Given the description of an element on the screen output the (x, y) to click on. 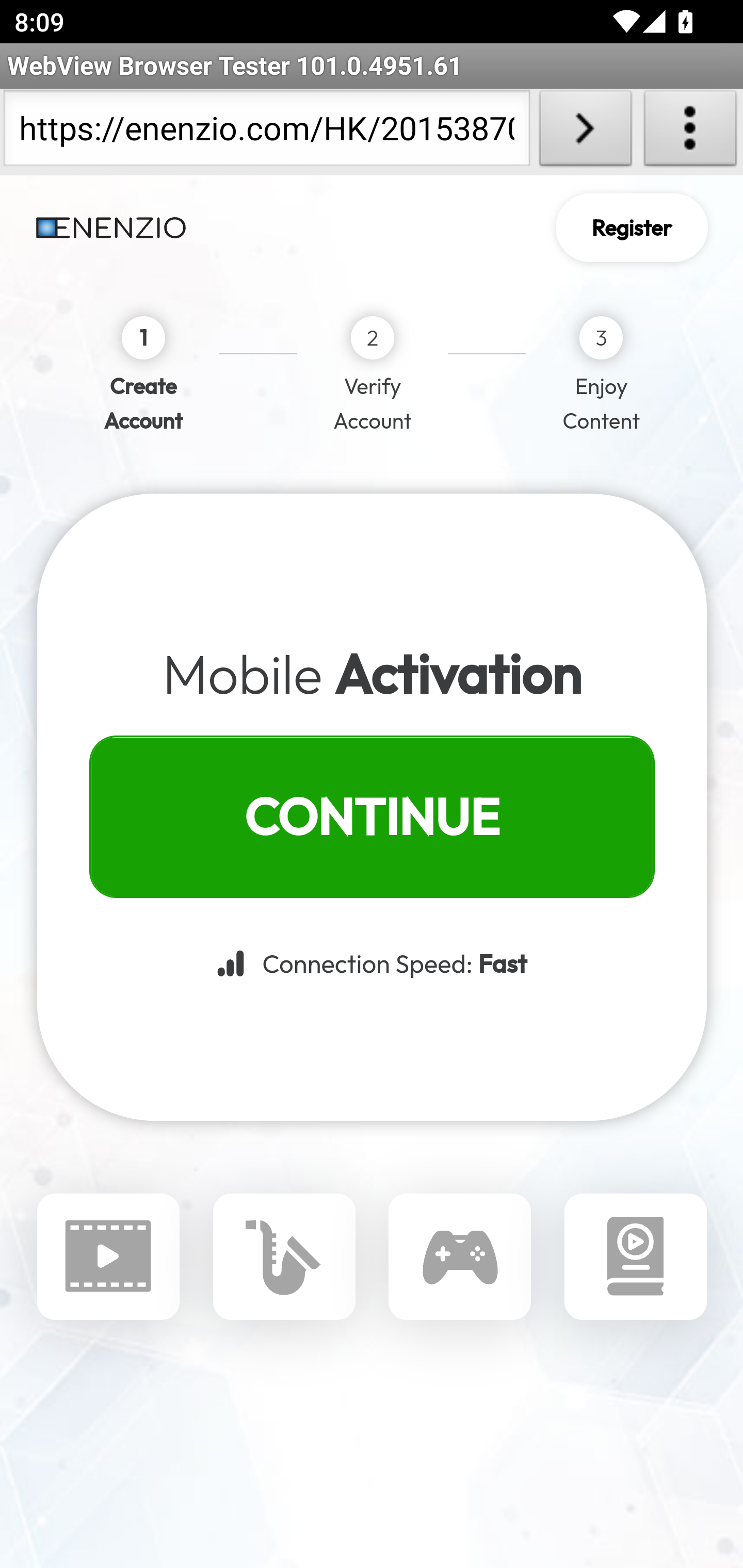
Load URL (585, 132)
About WebView (690, 132)
